Given the description of an element on the screen output the (x, y) to click on. 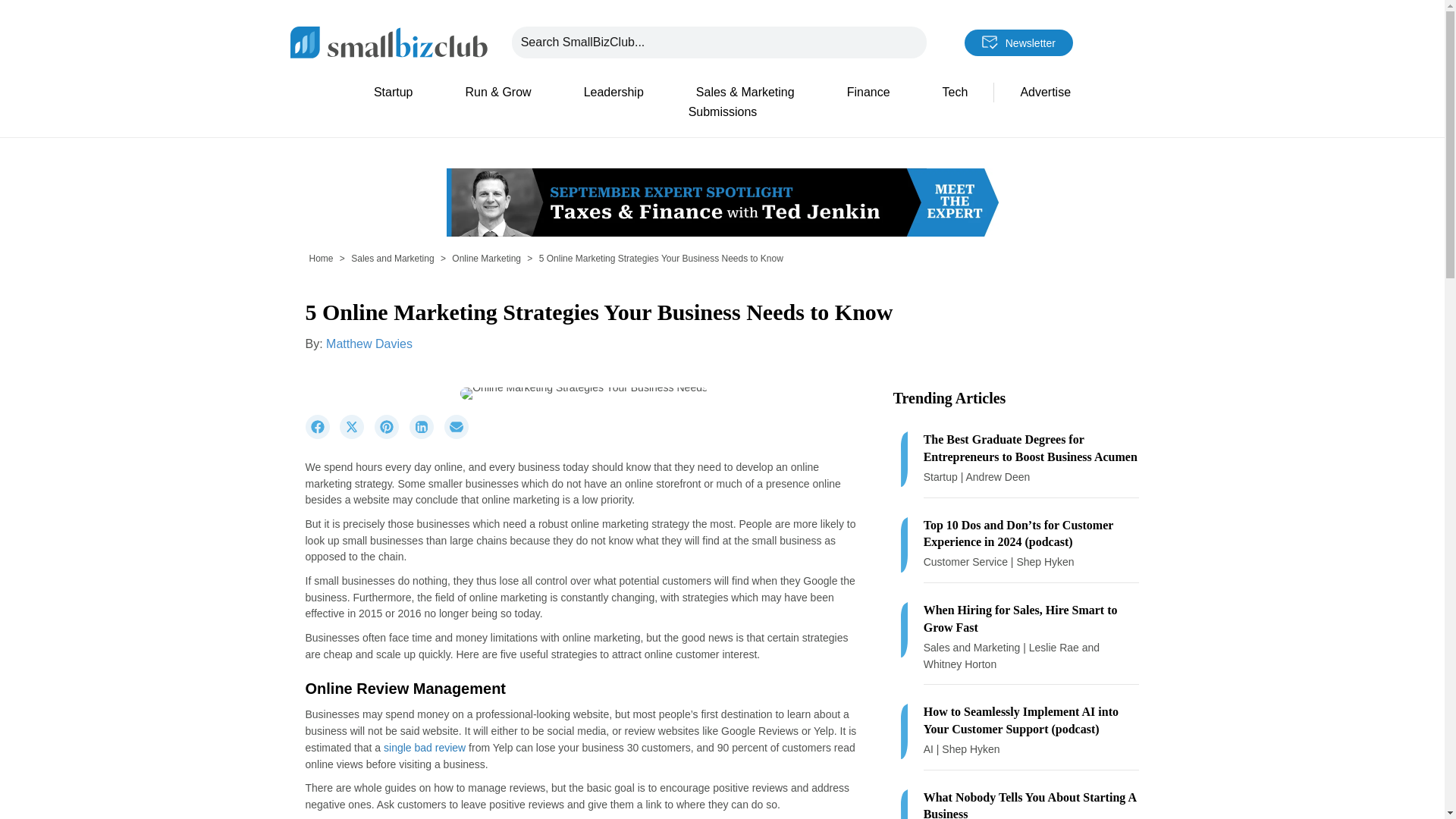
Startup (393, 92)
Share on Pinterest (391, 435)
Share on LinkedIn (426, 435)
Share on Facebook (321, 435)
Home (320, 258)
SmallBizClub-Primary-Logo-2023 (387, 41)
Submissions (722, 112)
Leadership (613, 92)
Advertise (1045, 92)
Share on Email (460, 435)
